Given the description of an element on the screen output the (x, y) to click on. 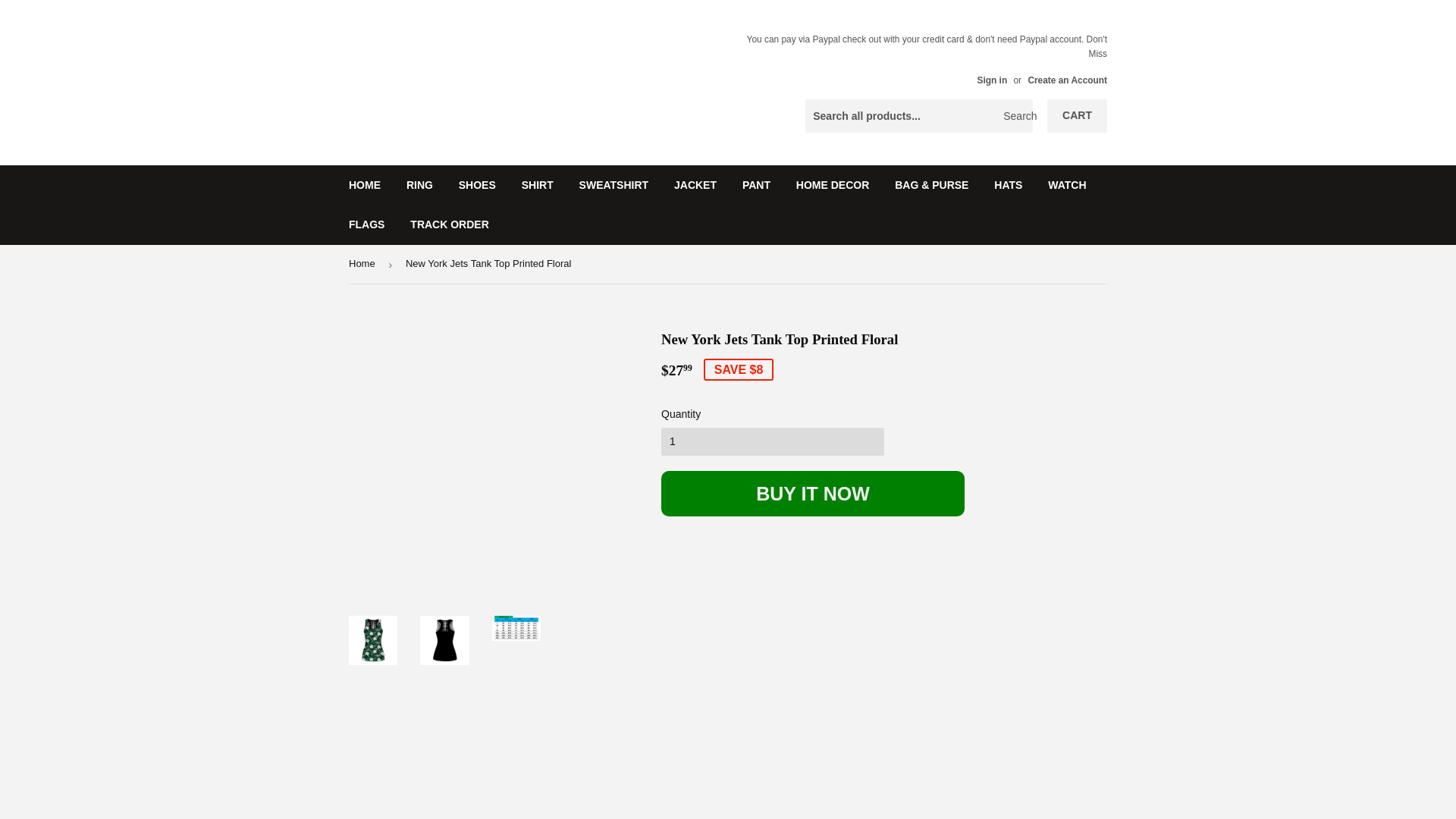
1 (772, 441)
Search (1015, 116)
Sign in (991, 80)
CART (1076, 115)
Create an Account (1066, 80)
